Given the description of an element on the screen output the (x, y) to click on. 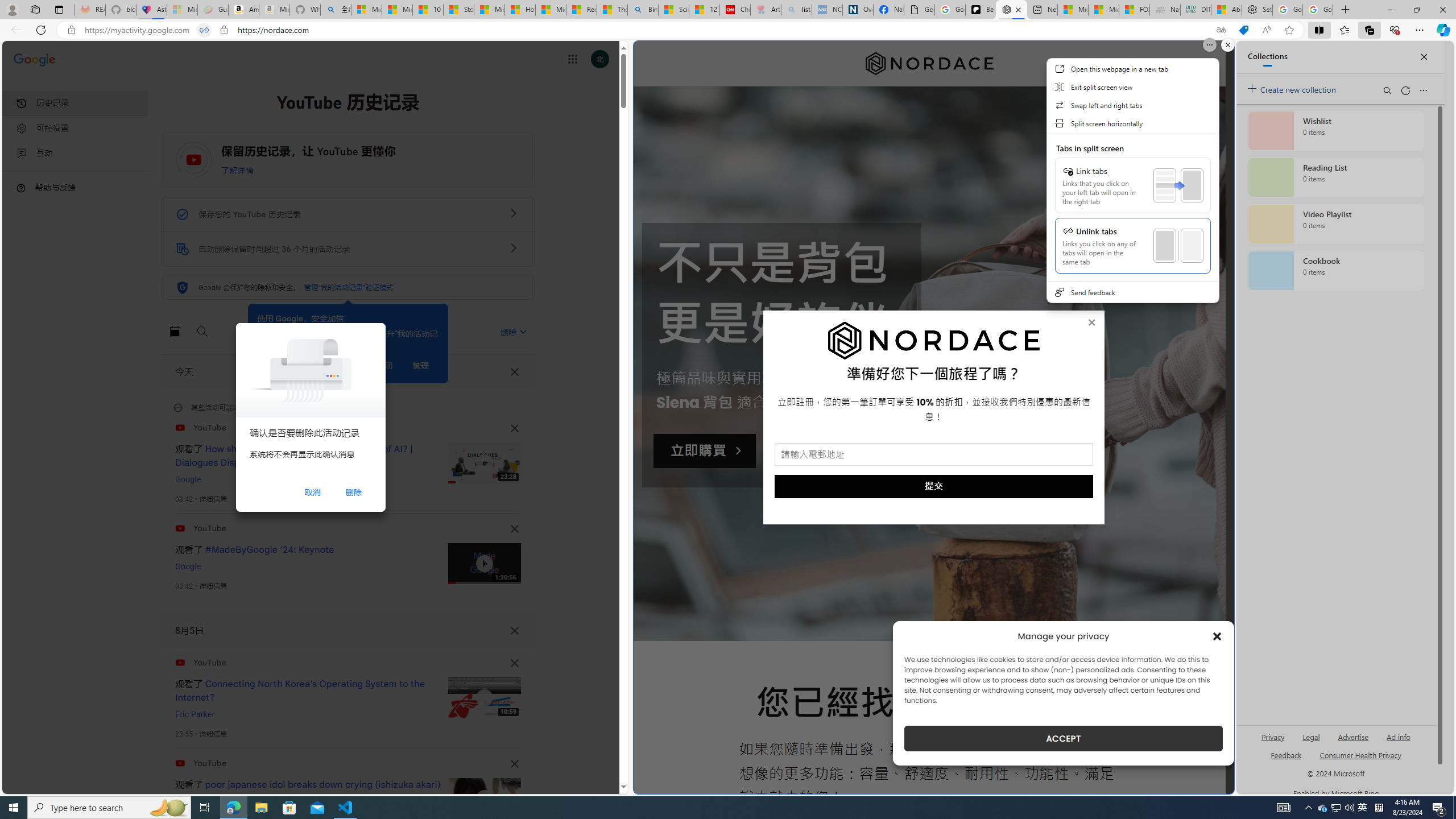
Class: MenuScrollViewContainer (1132, 187)
Unlink tabs (1133, 245)
Class: cmplz-close (1217, 636)
ACCEPT (1063, 738)
Close split screen. (1227, 45)
Exit split screen view (1132, 86)
AutomationID: genId96 (1285, 759)
Tabs in split screen (1132, 207)
To get missing image descriptions, open the context menu. (933, 340)
